Given the description of an element on the screen output the (x, y) to click on. 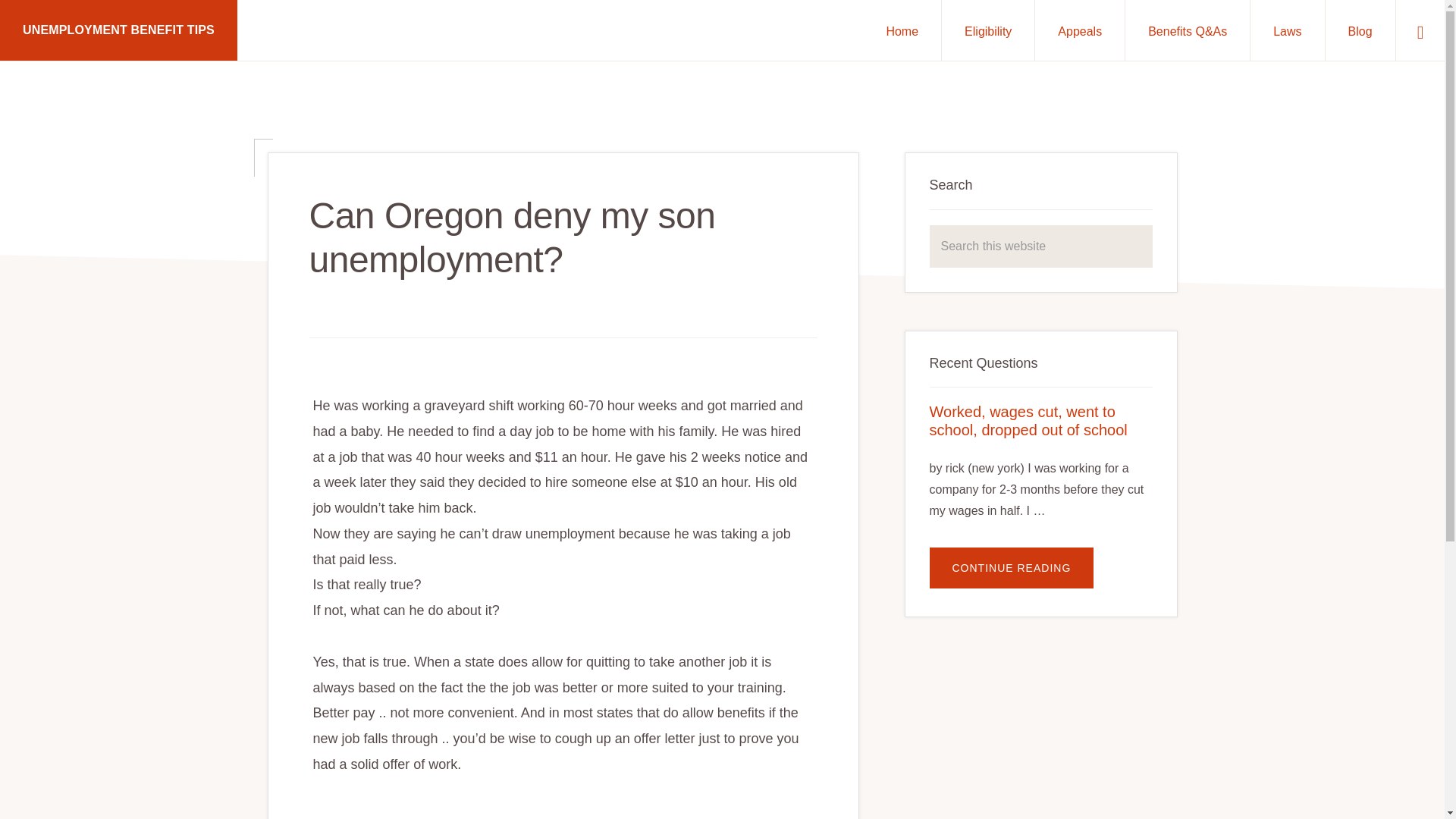
Home (901, 30)
TERMS OF USE (496, 775)
CLIENT FEEDBACK (390, 775)
DO NOT SELL MY INFORMATION (741, 775)
UNEMPLOYMENT BENEFIT TIPS (118, 30)
Eligibility (987, 30)
UNSUBSCRIBE (880, 775)
PRIVACY POLICY (597, 775)
Worked, wages cut, went to school, dropped out of school (1028, 420)
Laws (1286, 30)
Appeals (1079, 30)
Blog (1359, 30)
